Given the description of an element on the screen output the (x, y) to click on. 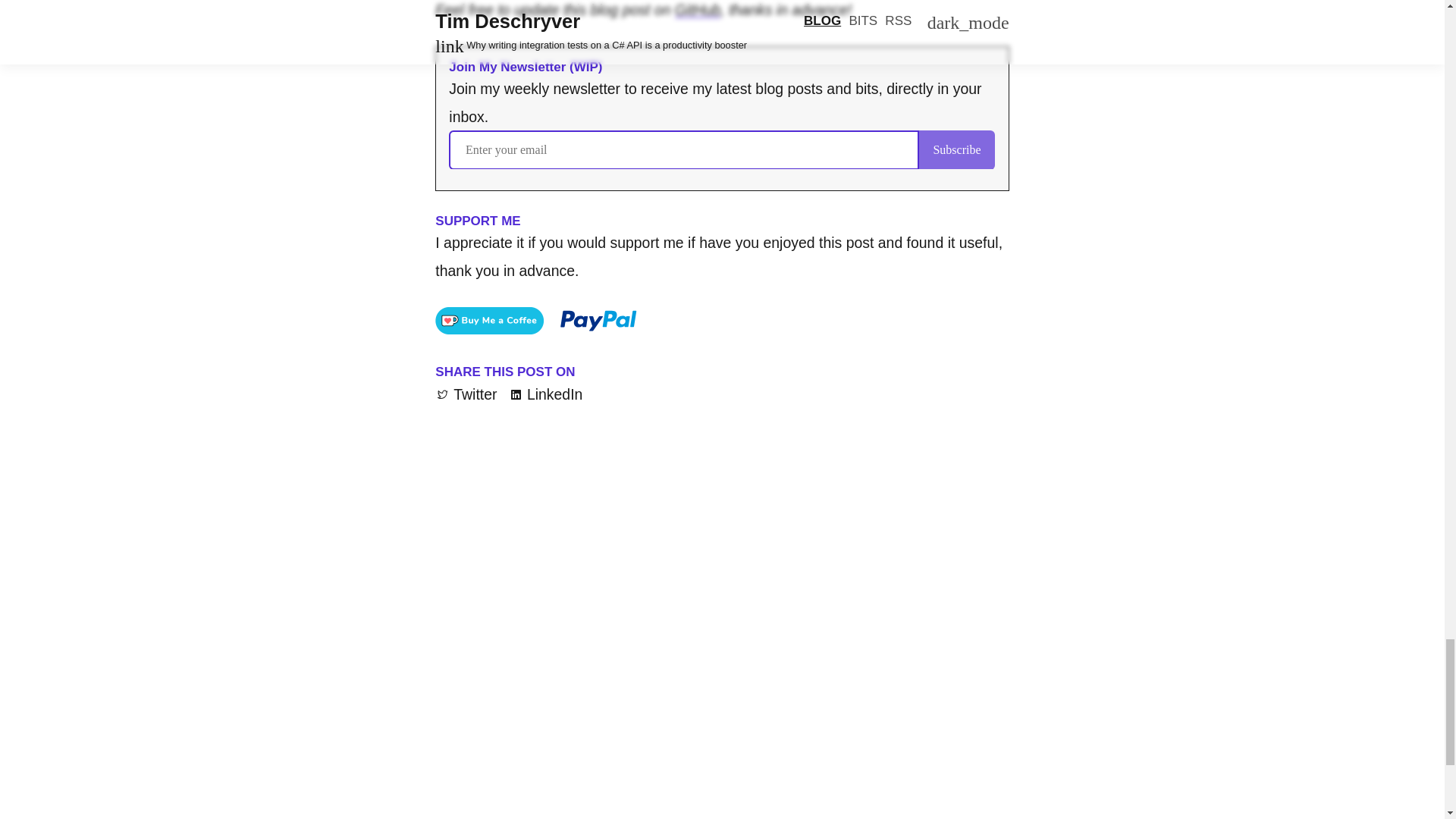
Subscribe to my newsletter (721, 149)
GitHub (697, 9)
LinkedIn (545, 393)
Twitter (465, 393)
